Given the description of an element on the screen output the (x, y) to click on. 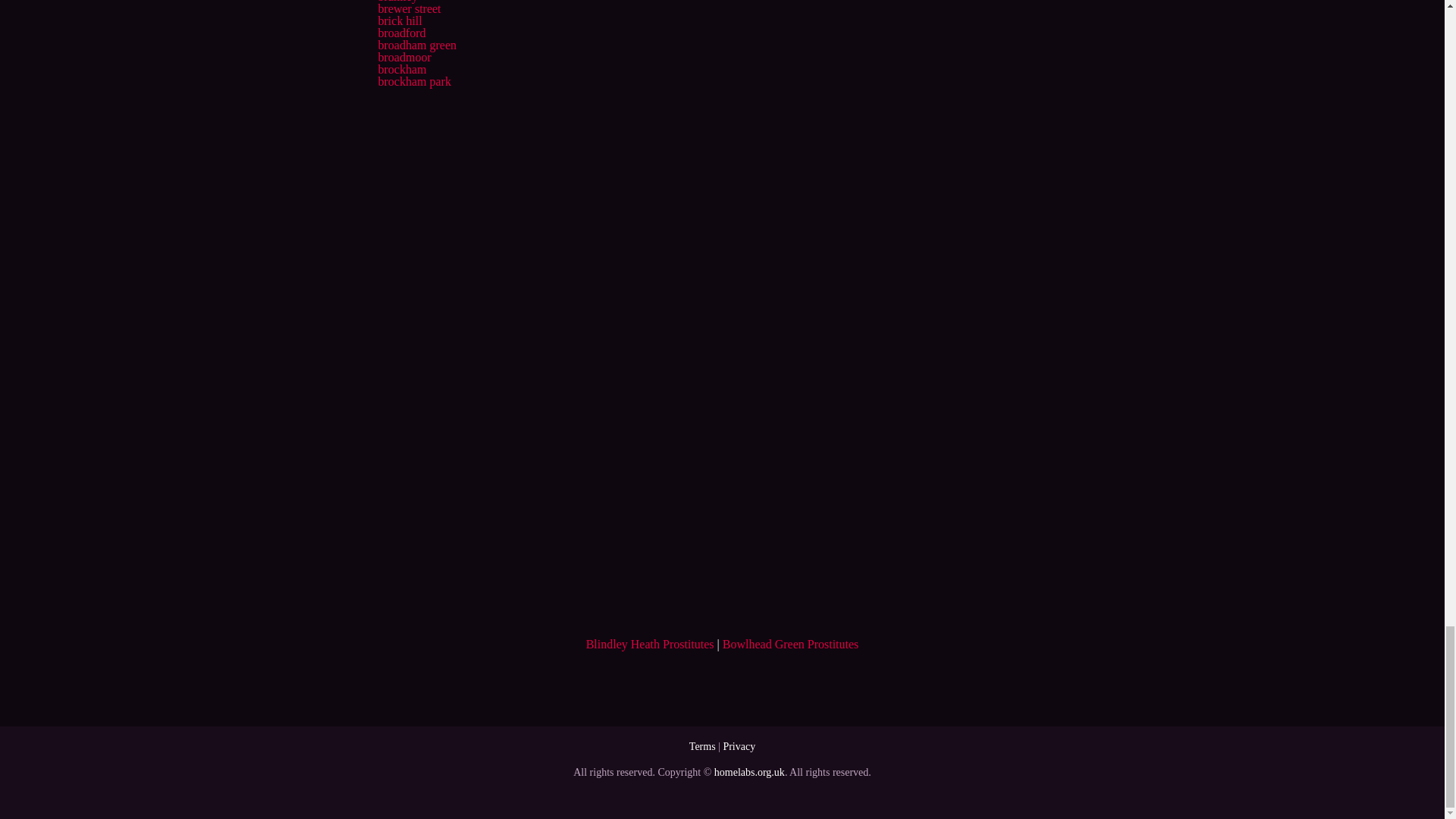
bramley (396, 1)
homelabs.org.uk (749, 772)
brick hill (399, 20)
Privacy (738, 746)
brewer street (409, 8)
brockham (401, 69)
Privacy (738, 746)
Terms (702, 746)
broadmoor (403, 56)
Blindley Heath Prostitutes (650, 644)
Terms (702, 746)
brockham park (413, 81)
broadford (401, 32)
broadham green (417, 44)
Bowlhead Green Prostitutes (790, 644)
